Given the description of an element on the screen output the (x, y) to click on. 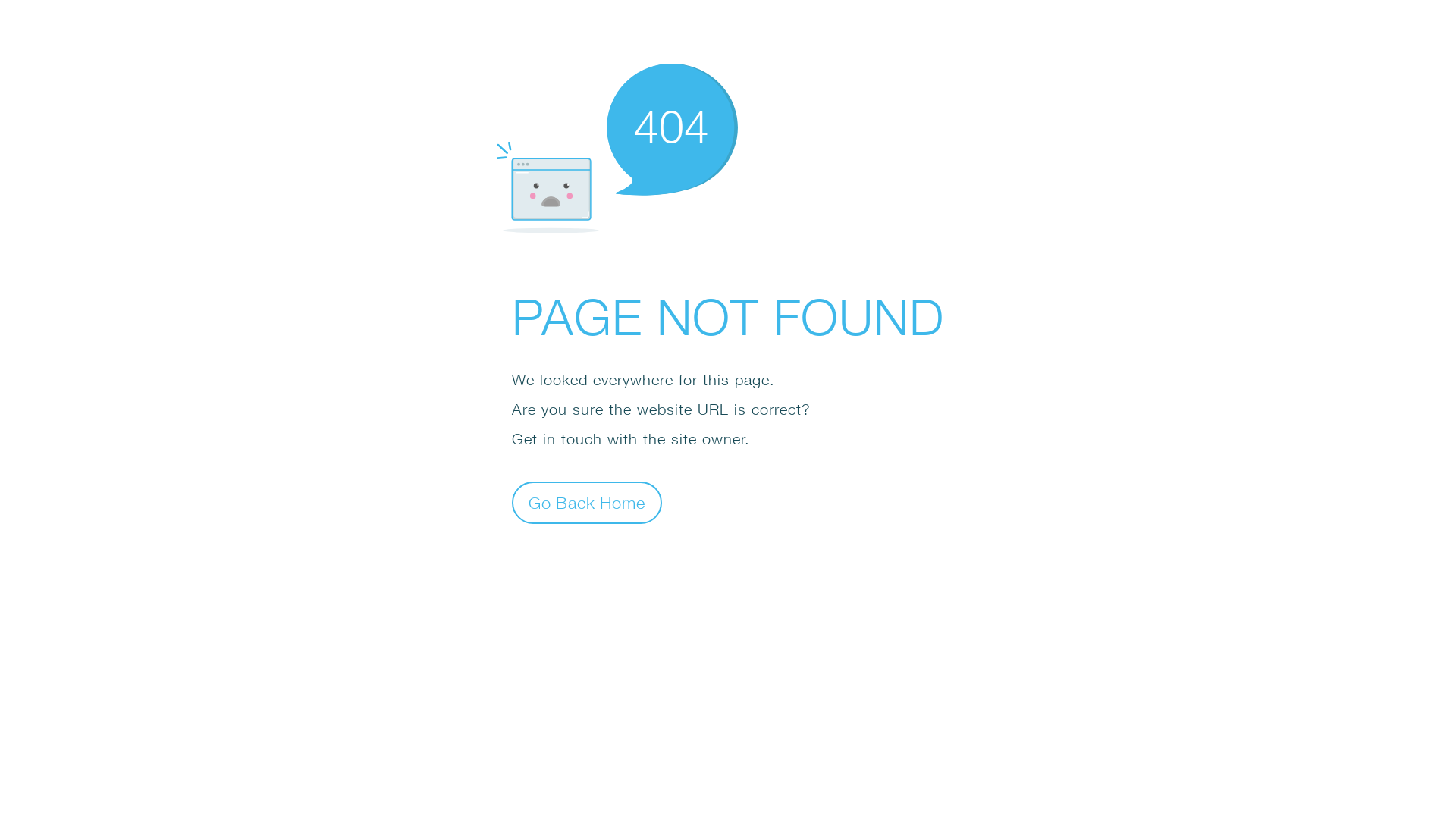
Go Back Home Element type: text (586, 502)
